Given the description of an element on the screen output the (x, y) to click on. 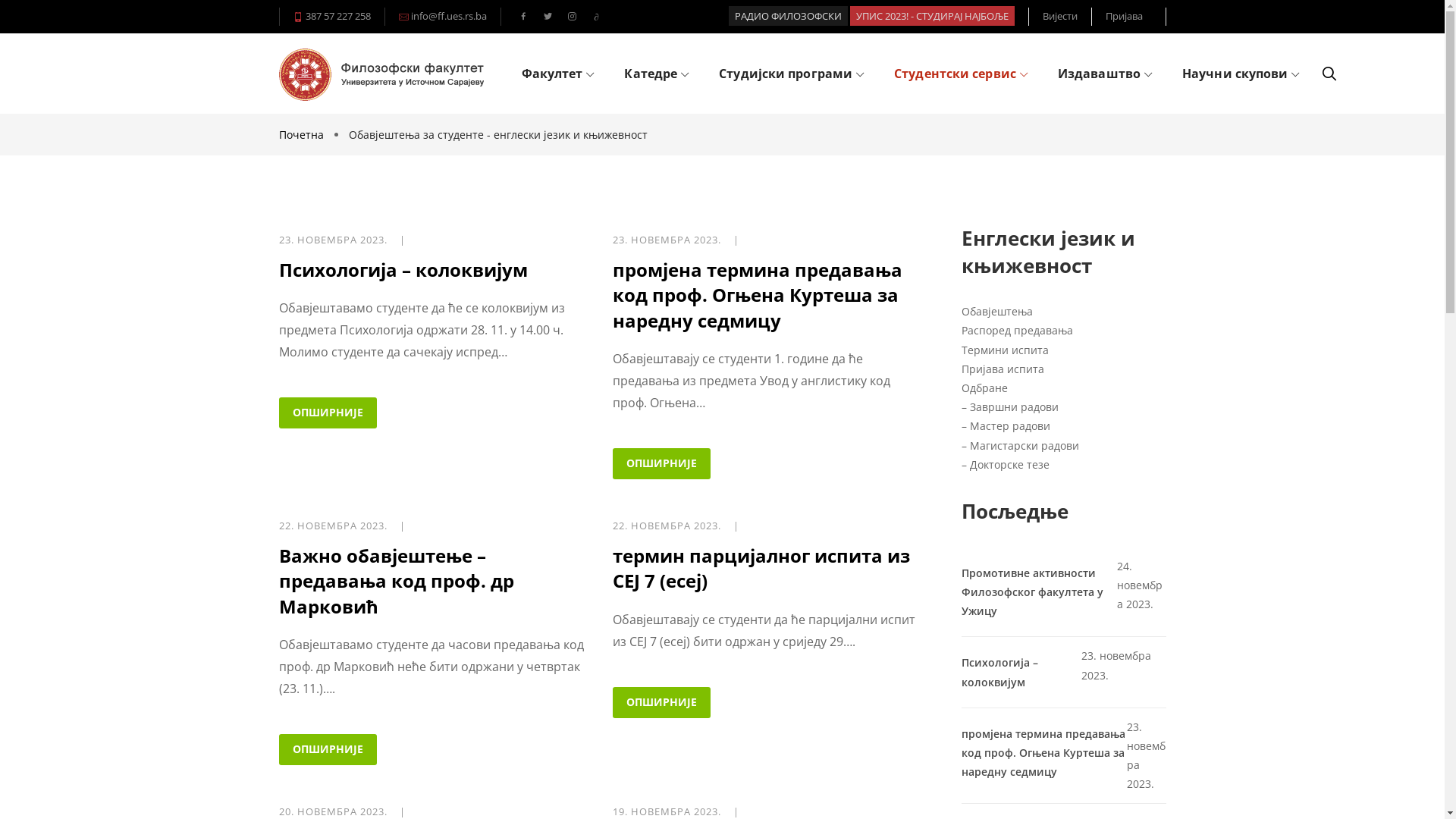
Youtube Element type: hover (595, 16)
Facebook Element type: hover (523, 16)
Twitter Element type: hover (547, 16)
info@ff.ues.rs.ba Element type: text (446, 15)
Instagram Element type: hover (571, 16)
